Given the description of an element on the screen output the (x, y) to click on. 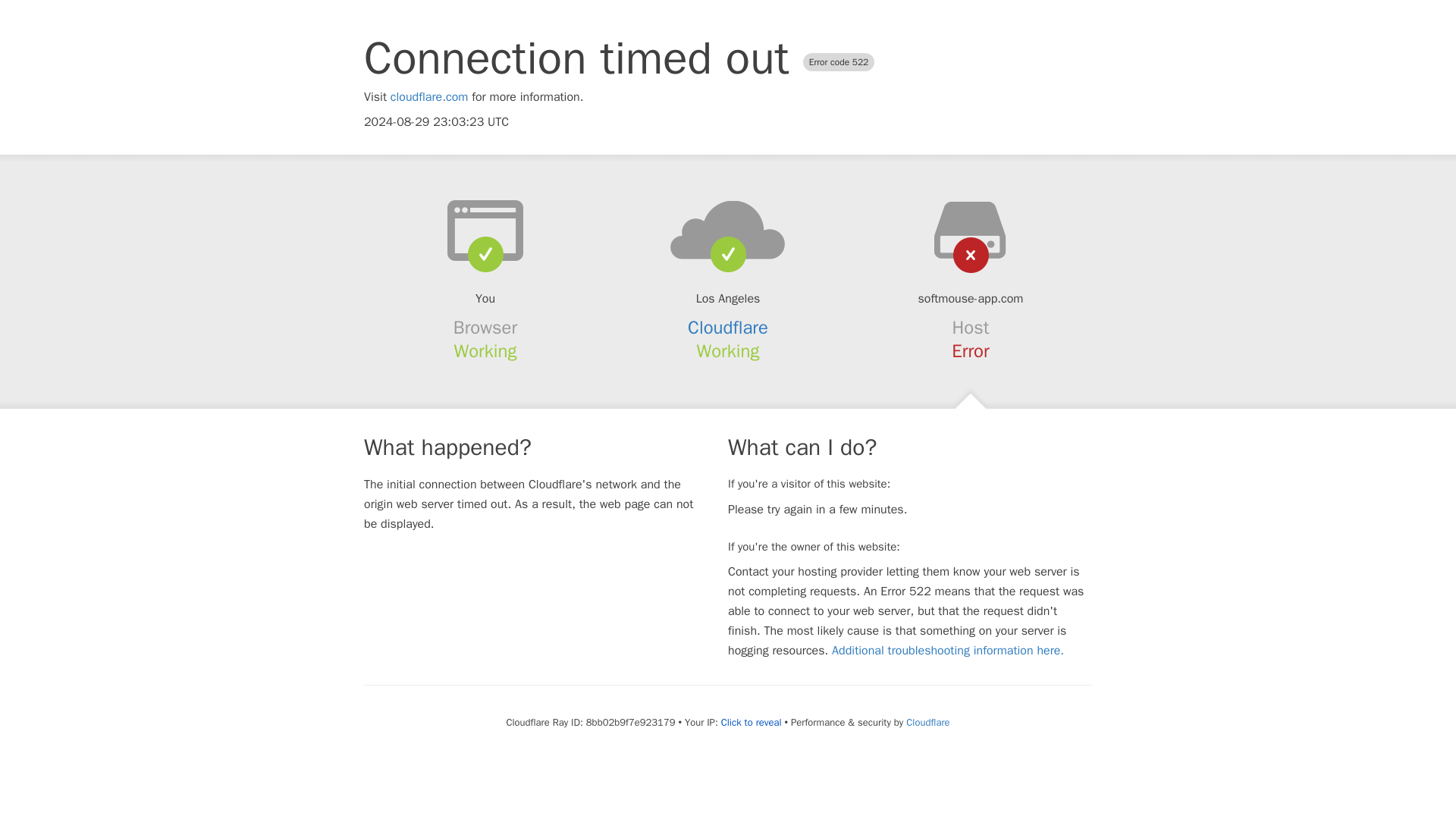
Click to reveal (750, 722)
Cloudflare (727, 327)
Additional troubleshooting information here. (947, 650)
Cloudflare (927, 721)
cloudflare.com (429, 96)
